Given the description of an element on the screen output the (x, y) to click on. 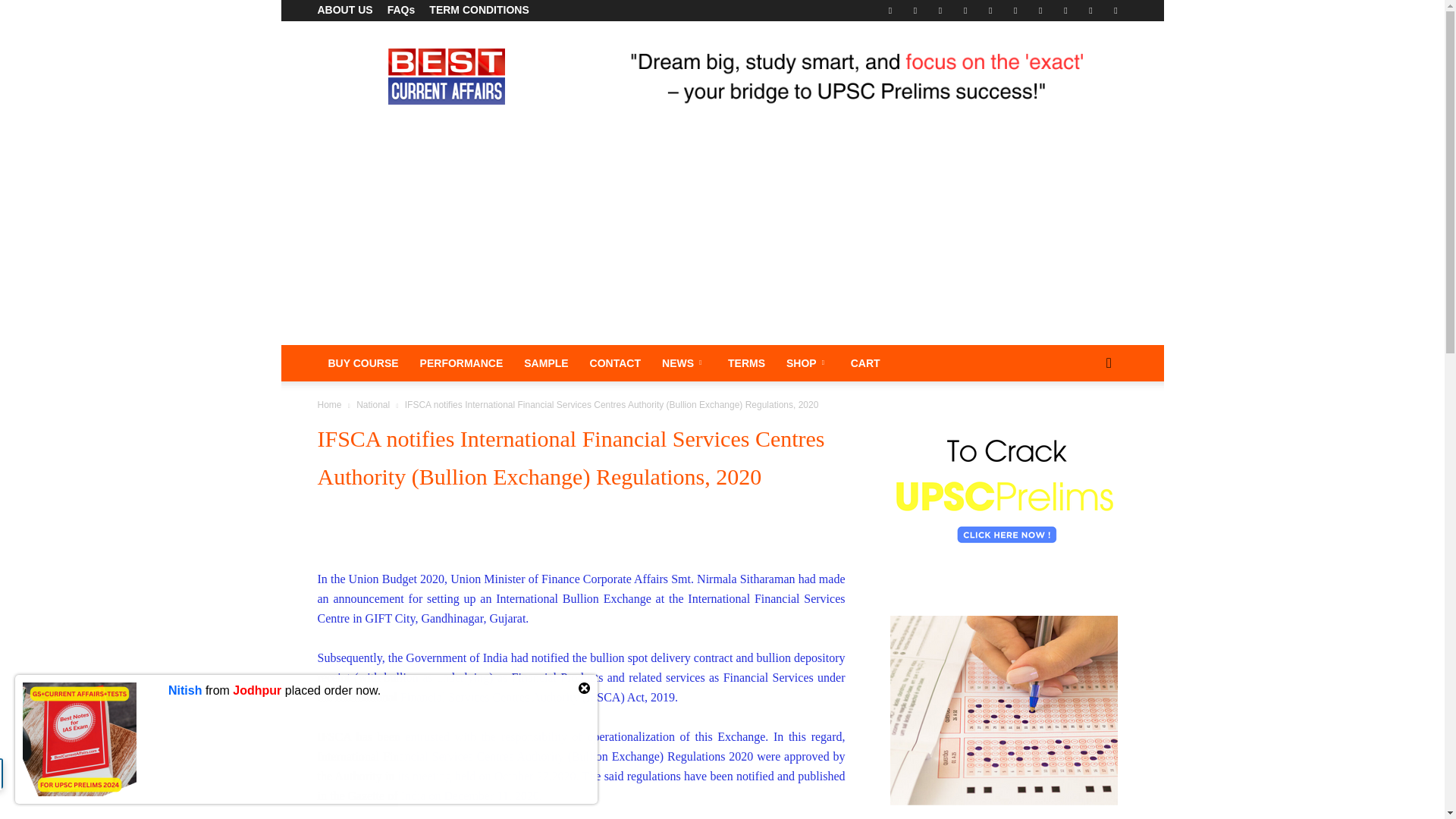
Reddit (1015, 10)
Flickr (915, 10)
Instagram (964, 10)
RSS (1040, 10)
FAQs (400, 9)
ABOUT US (344, 9)
TERM CONDITIONS (478, 9)
Facebook (890, 10)
Pinterest (989, 10)
